Given the description of an element on the screen output the (x, y) to click on. 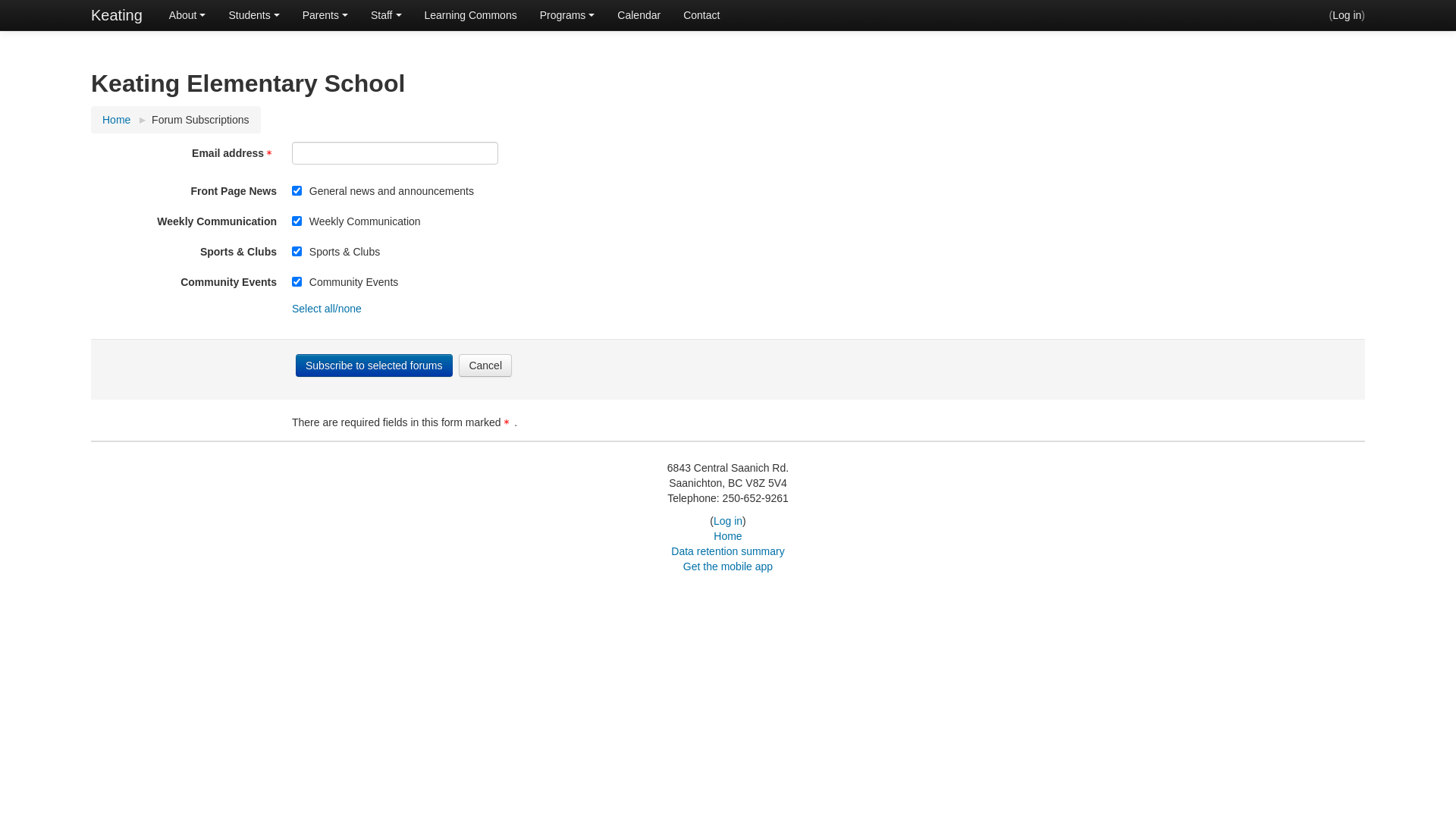
Home Element type: text (116, 119)
Students Element type: text (253, 15)
Data retention summary Element type: text (727, 551)
Home Element type: text (727, 536)
Cancel Element type: text (484, 365)
Log in Element type: text (1346, 15)
About Element type: text (187, 15)
Keating Element type: text (116, 15)
Programs Element type: text (567, 15)
Staff Element type: text (386, 15)
Get the mobile app Element type: text (727, 566)
Required field Element type: hover (508, 423)
Learning Commons Element type: text (469, 15)
Select all/none Element type: text (44, 11)
Select all/none Element type: text (326, 308)
Calendar Element type: text (638, 15)
Subscribe to selected forums Element type: text (373, 365)
Parents Element type: text (325, 15)
Contact Element type: text (701, 15)
Log in Element type: text (727, 520)
Required field Element type: hover (271, 154)
